Given the description of an element on the screen output the (x, y) to click on. 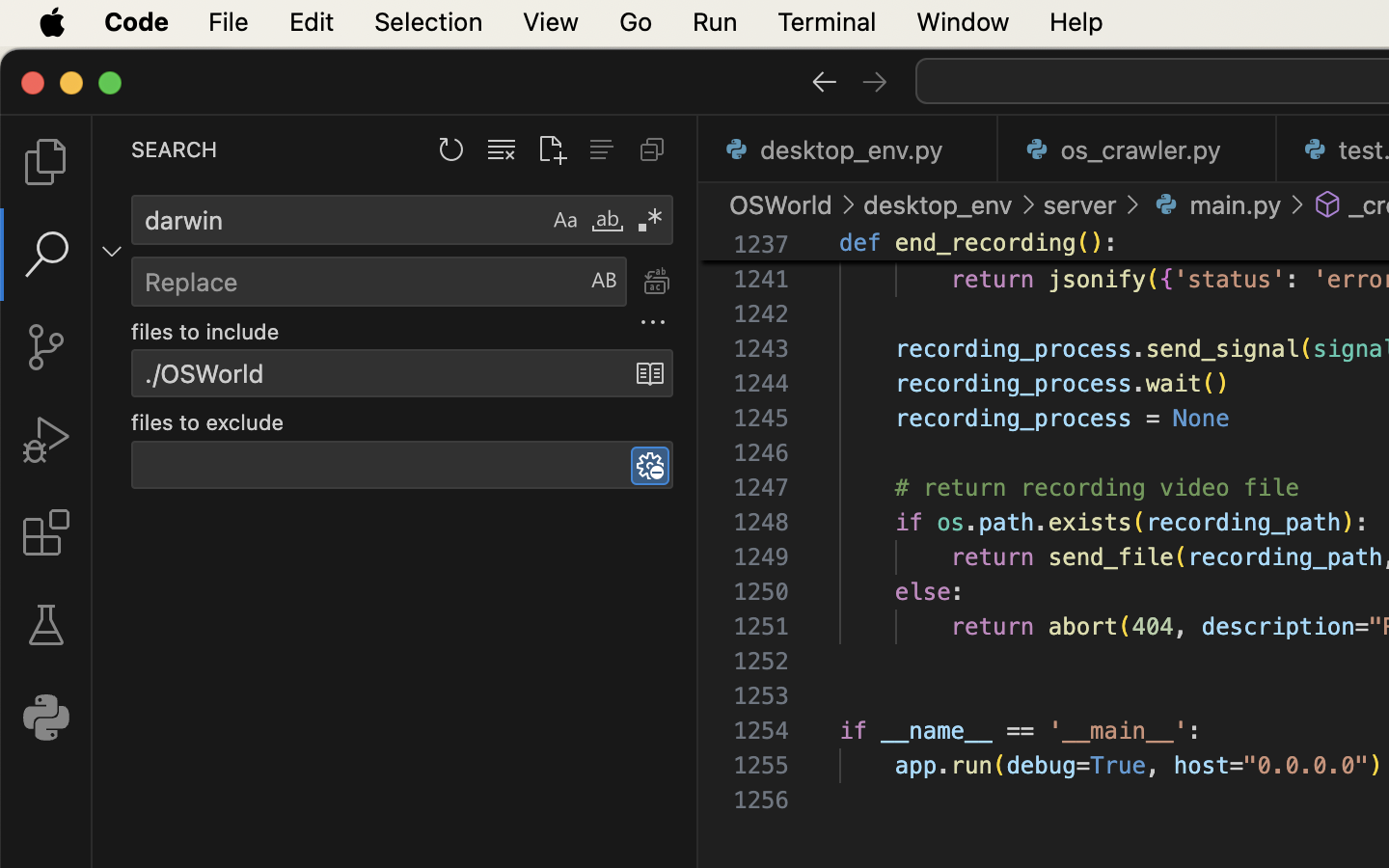
 Element type: AXGroup (46, 532)
darwin Element type: AXTextArea (338, 219)
0 os_crawler.py   Element type: AXRadioButton (1138, 149)
0 desktop_env.py   Element type: AXRadioButton (848, 149)
 Element type: AXGroup (46, 254)
